Given the description of an element on the screen output the (x, y) to click on. 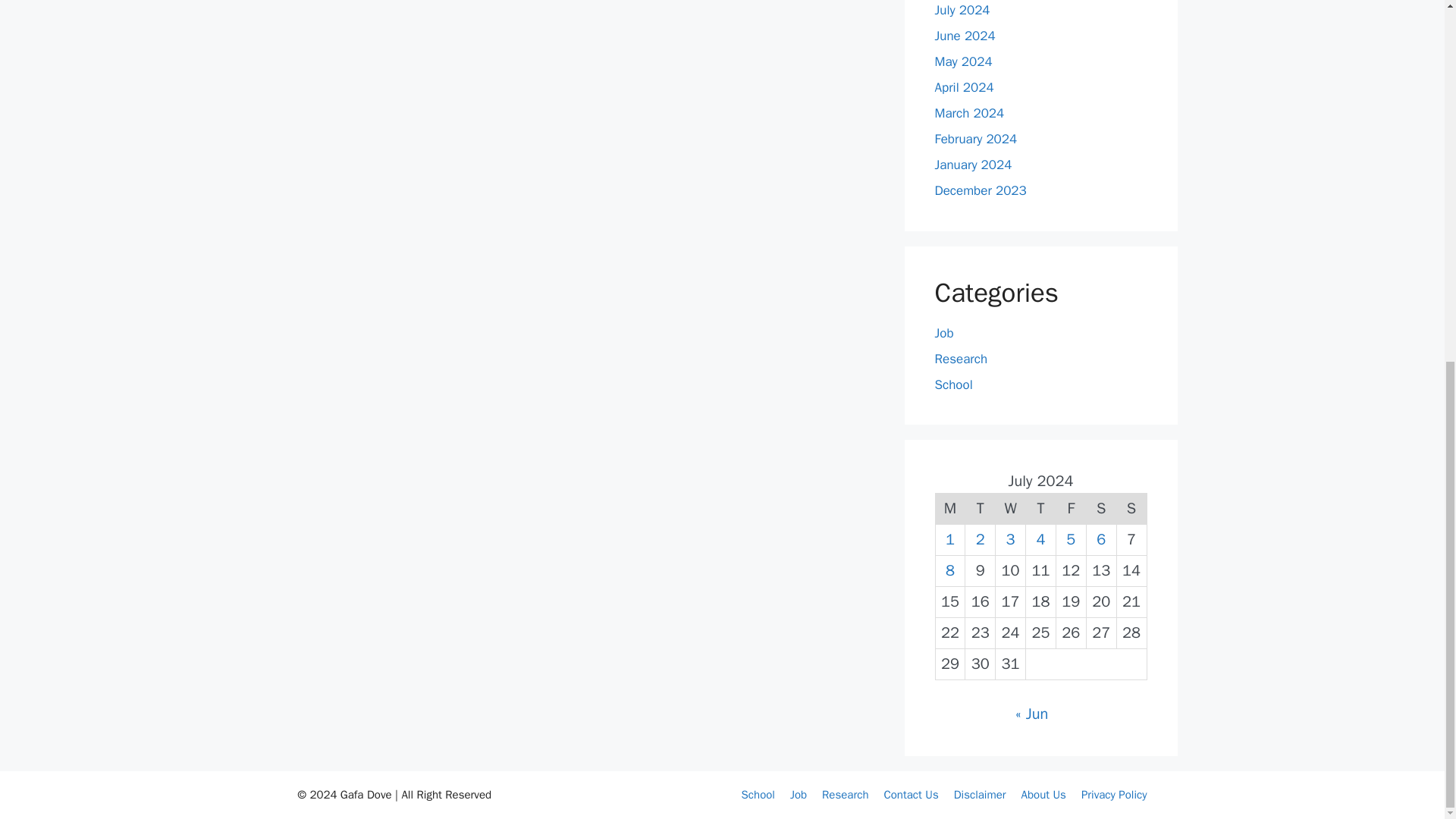
8 (949, 570)
July 2024 (962, 10)
Contact Us (910, 794)
December 2023 (980, 190)
Job (798, 794)
Saturday (1101, 508)
Friday (1070, 508)
1 (949, 538)
Sunday (1131, 508)
May 2024 (962, 61)
March 2024 (969, 113)
February 2024 (975, 139)
June 2024 (964, 35)
Thursday (1041, 508)
2 (980, 538)
